Given the description of an element on the screen output the (x, y) to click on. 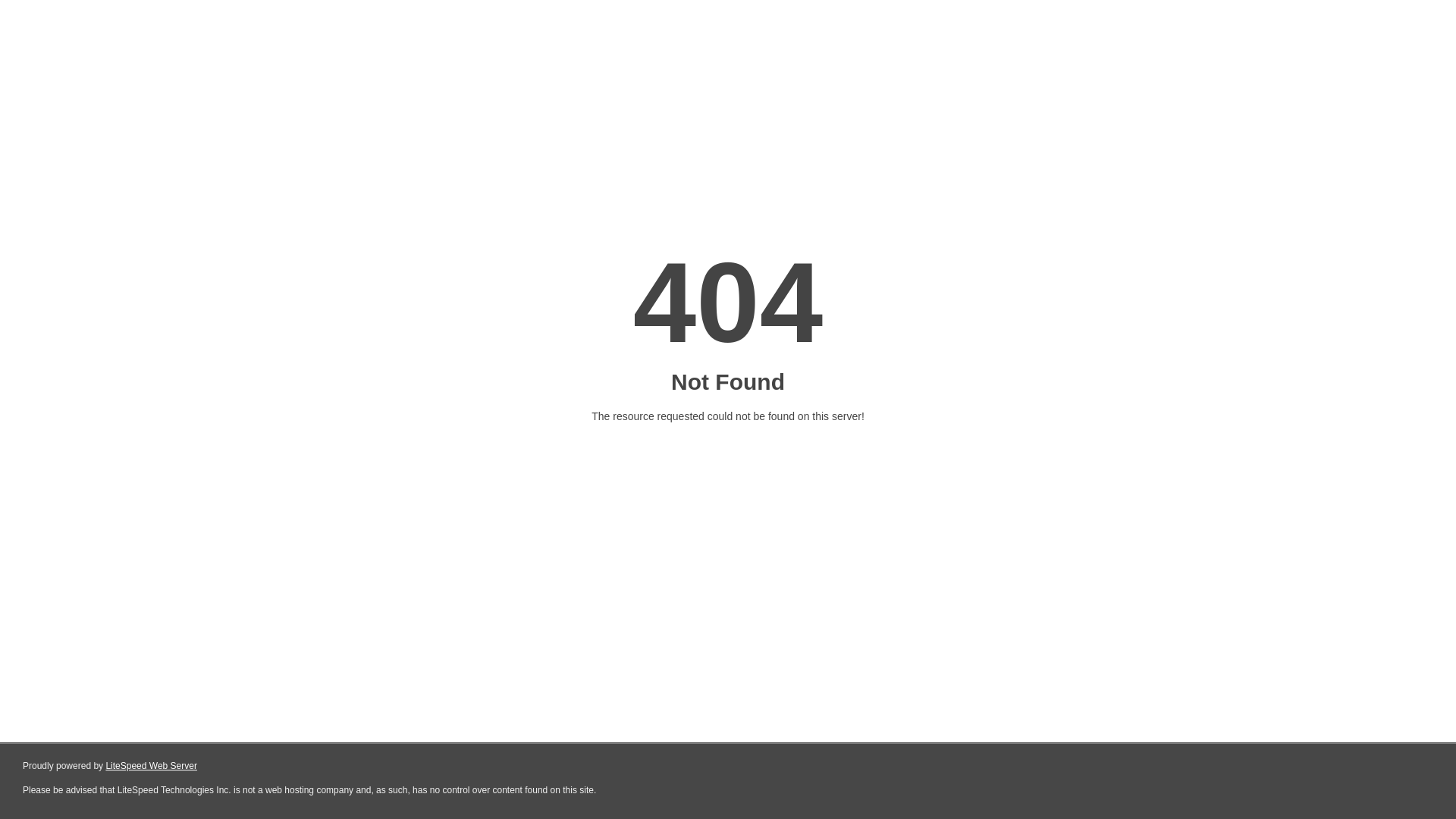
LiteSpeed Web Server Element type: text (151, 765)
